Given the description of an element on the screen output the (x, y) to click on. 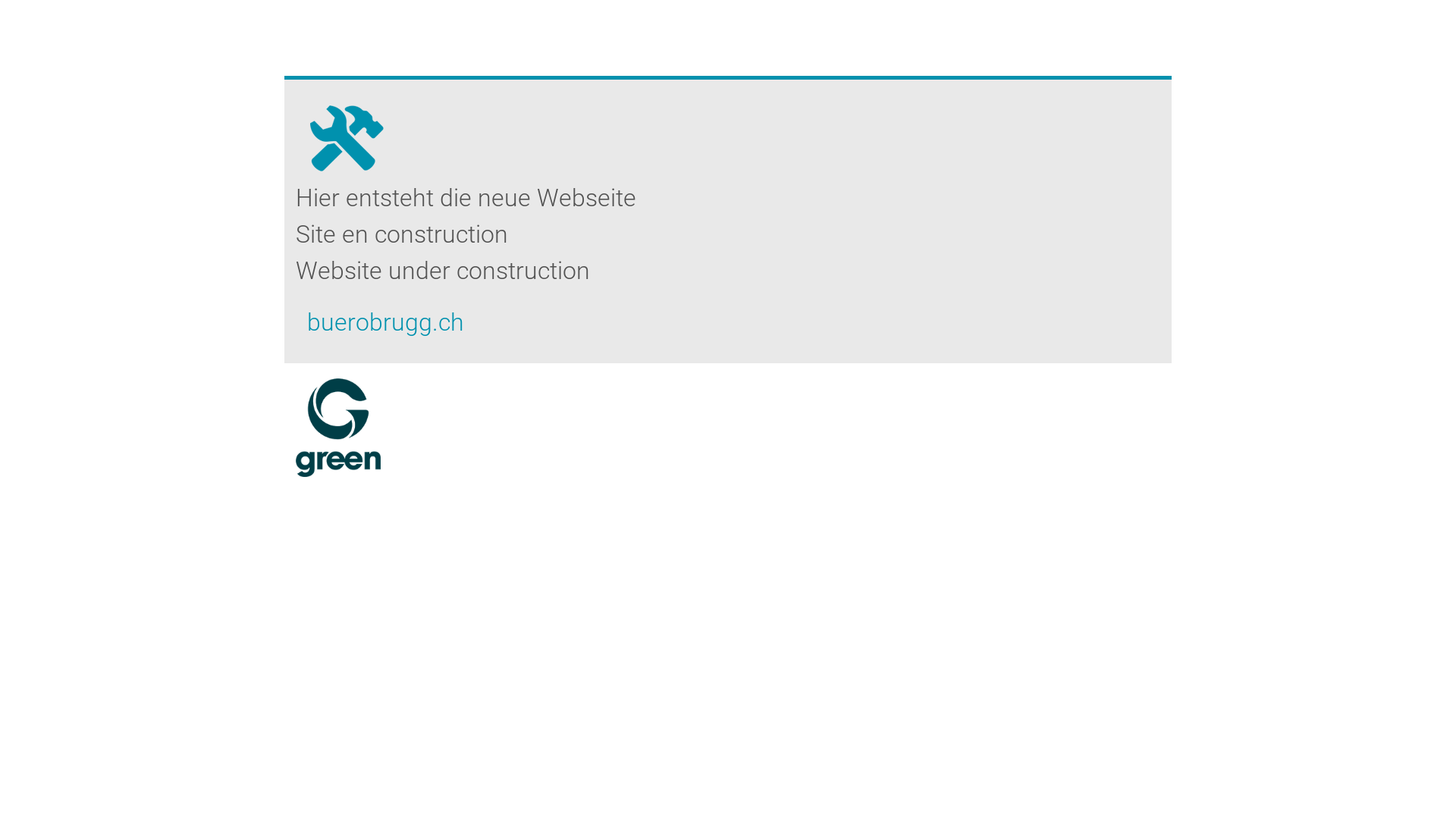
powered by green.ch Element type: hover (337, 427)
coming soon Element type: hover (345, 129)
